Given the description of an element on the screen output the (x, y) to click on. 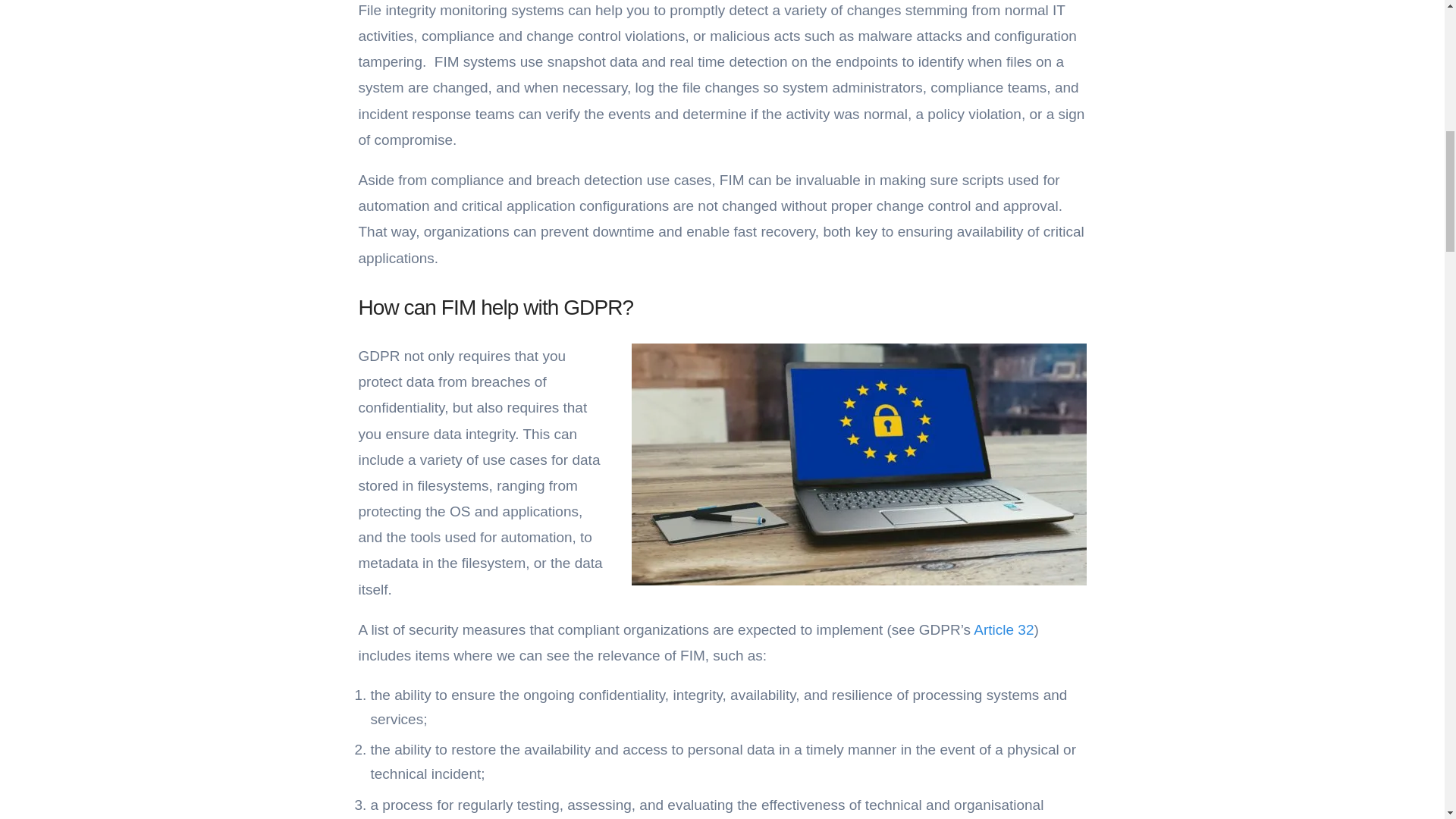
Article 32 (1002, 629)
